Given the description of an element on the screen output the (x, y) to click on. 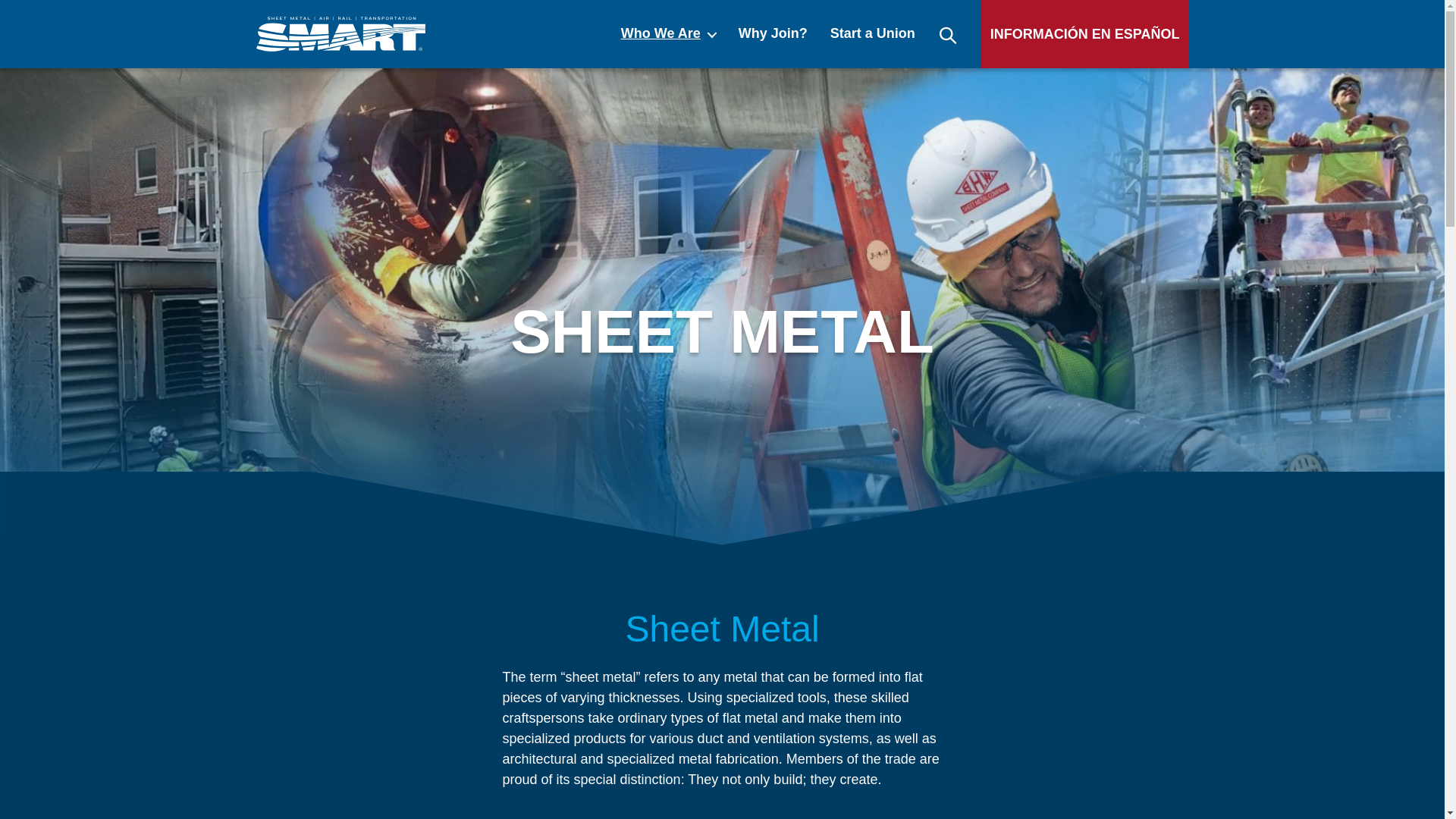
Why Join? (773, 33)
Who We Are (668, 33)
Search (948, 33)
Start a Union (872, 33)
